Given the description of an element on the screen output the (x, y) to click on. 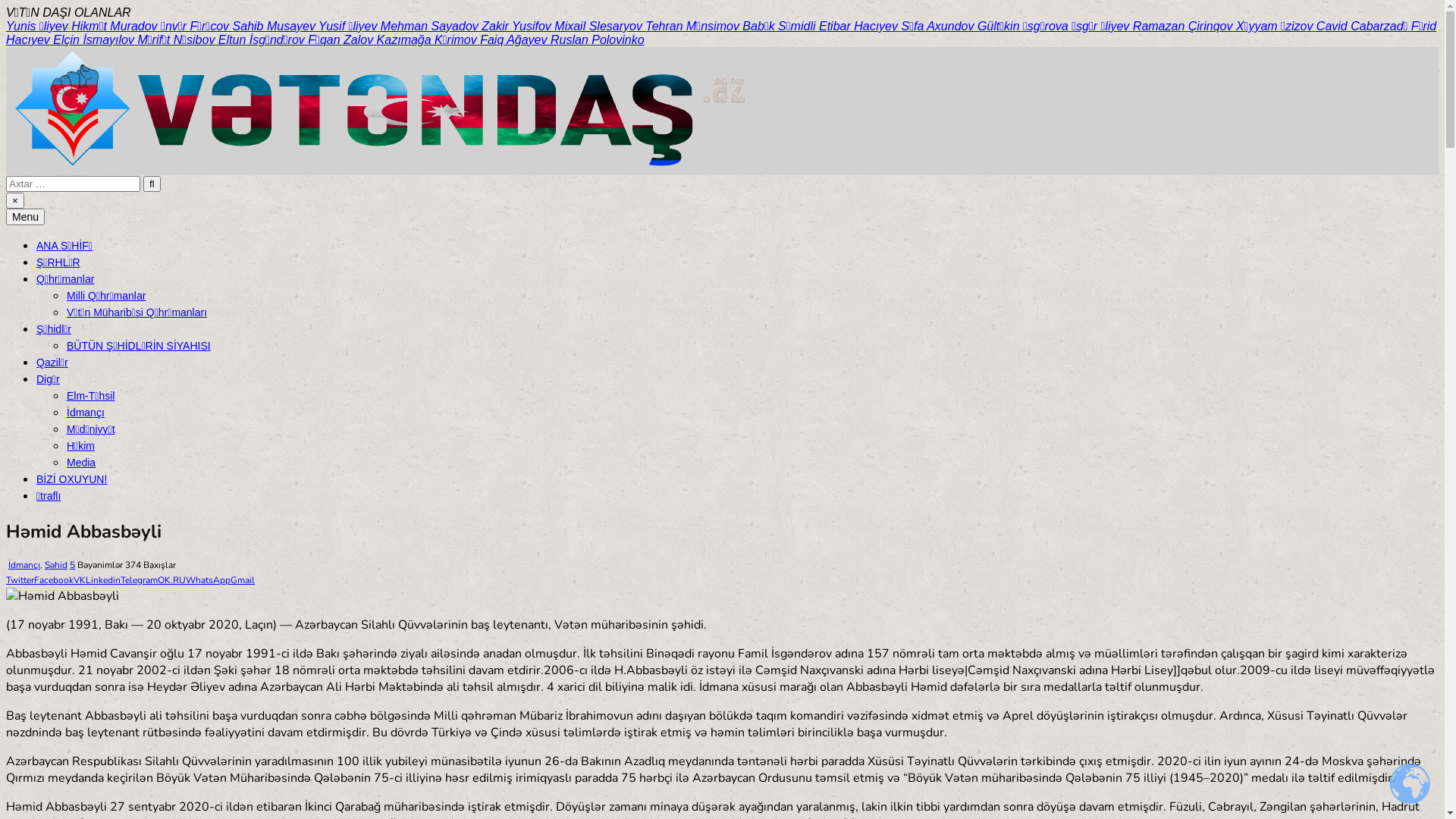
Mixail Slesaryov Element type: text (599, 25)
Gmail Element type: text (242, 580)
Linkedin Element type: text (102, 580)
Media Element type: text (80, 462)
Twitter Element type: text (20, 580)
OK.RU Element type: text (171, 580)
Menu Element type: text (25, 216)
Sahib Musayev Element type: text (275, 25)
Skip to content Element type: text (5, 5)
www.vetendas.az Element type: text (83, 203)
WhatsApp Element type: text (207, 580)
5 Element type: text (72, 564)
Mehman Sayadov Element type: text (430, 25)
Facebook Element type: text (53, 580)
Ruslan Polovinko Element type: text (597, 39)
Zakir Yusifov Element type: text (517, 25)
VK Element type: text (79, 580)
Telegram Element type: text (138, 580)
